Given the description of an element on the screen output the (x, y) to click on. 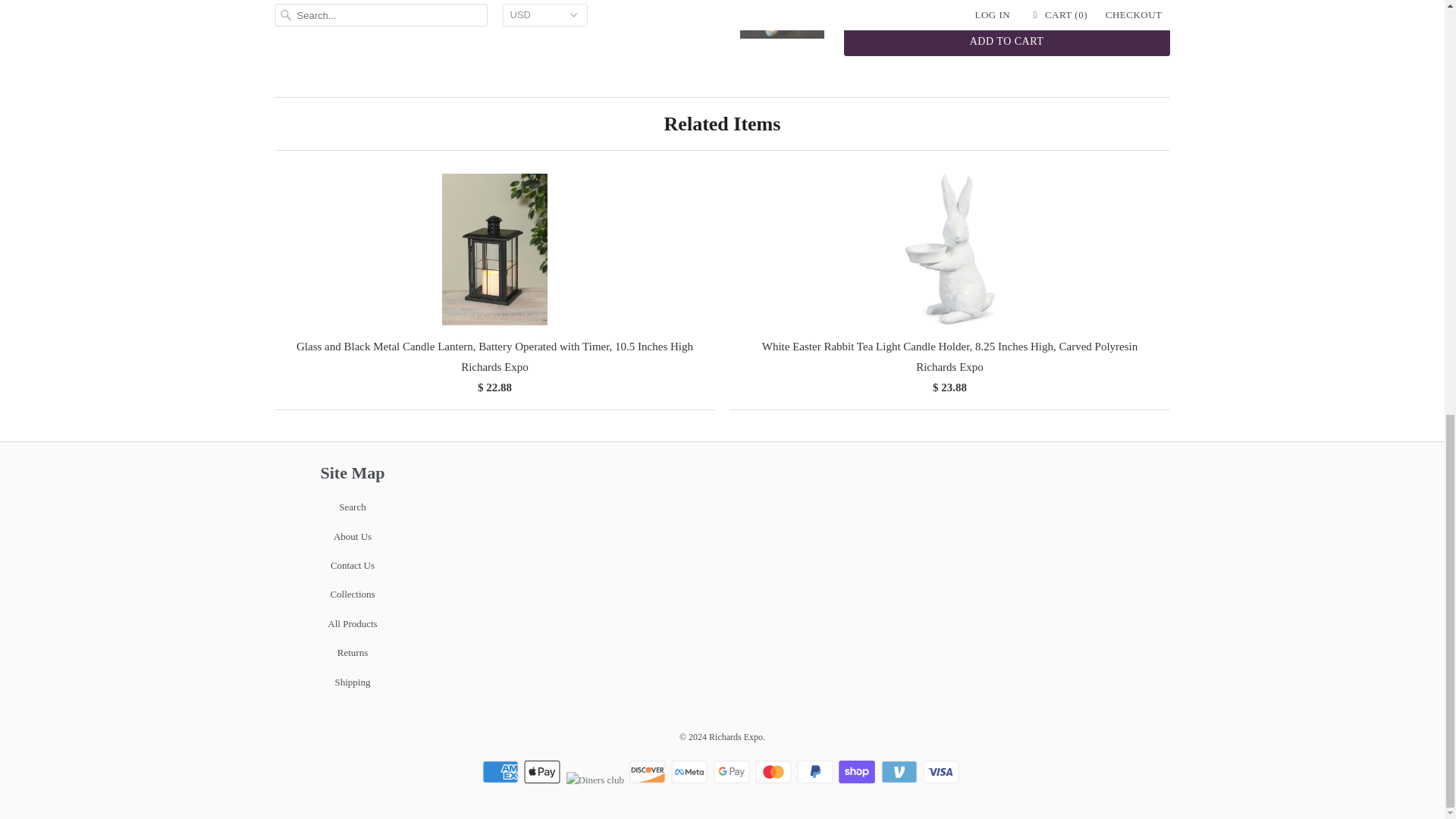
Collections (352, 593)
Search (352, 506)
About Us (352, 536)
Contact Us (352, 564)
